Given the description of an element on the screen output the (x, y) to click on. 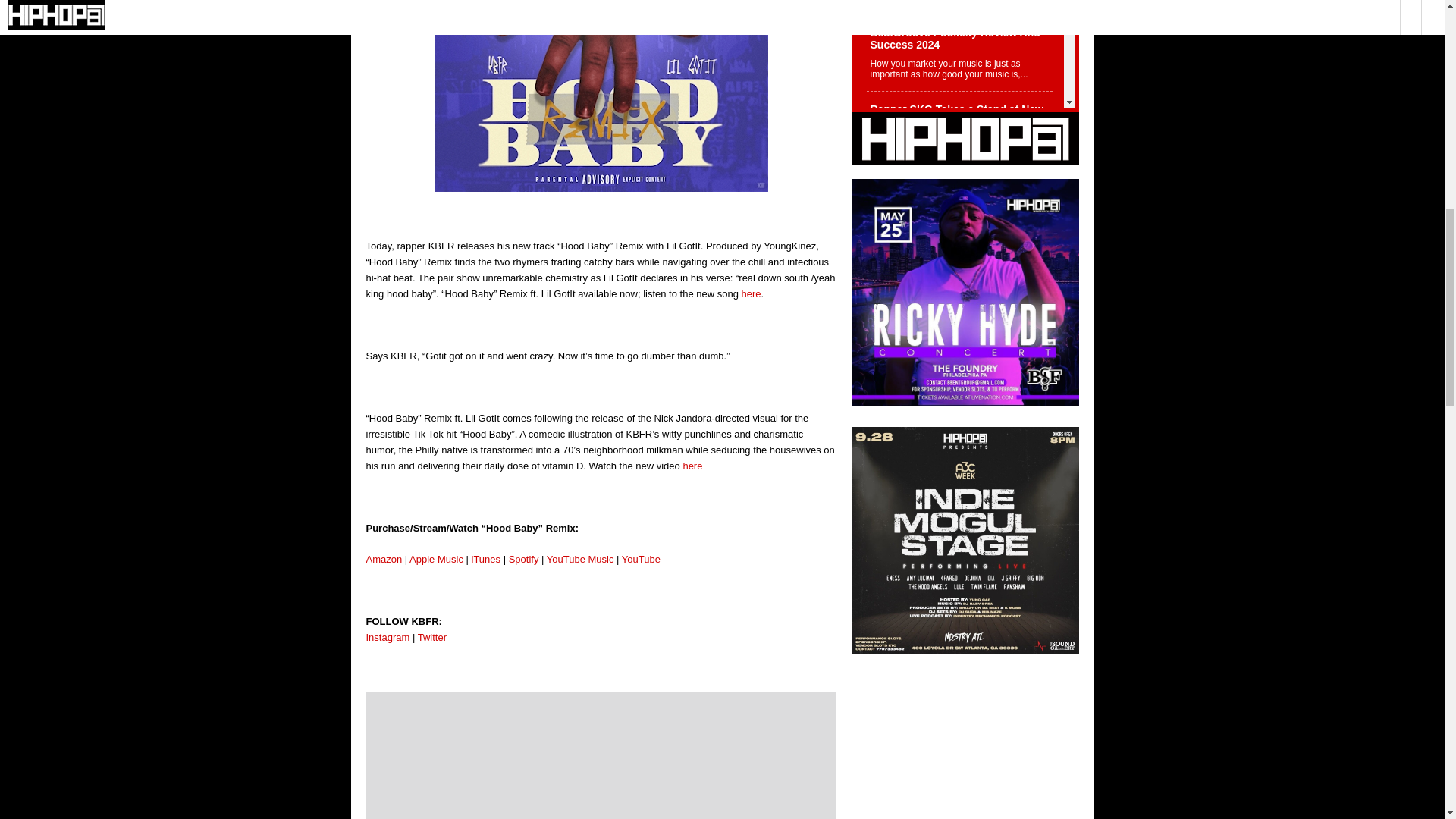
YouTube (641, 559)
Amazon (383, 559)
Instagram (387, 636)
YouTube Music (580, 559)
BeatGroove Publicity Review And Success 2024 (958, 53)
here (691, 465)
here (750, 293)
Apple Music (436, 559)
iTunes (484, 559)
Twitter (431, 636)
Spotify (523, 559)
